Given the description of an element on the screen output the (x, y) to click on. 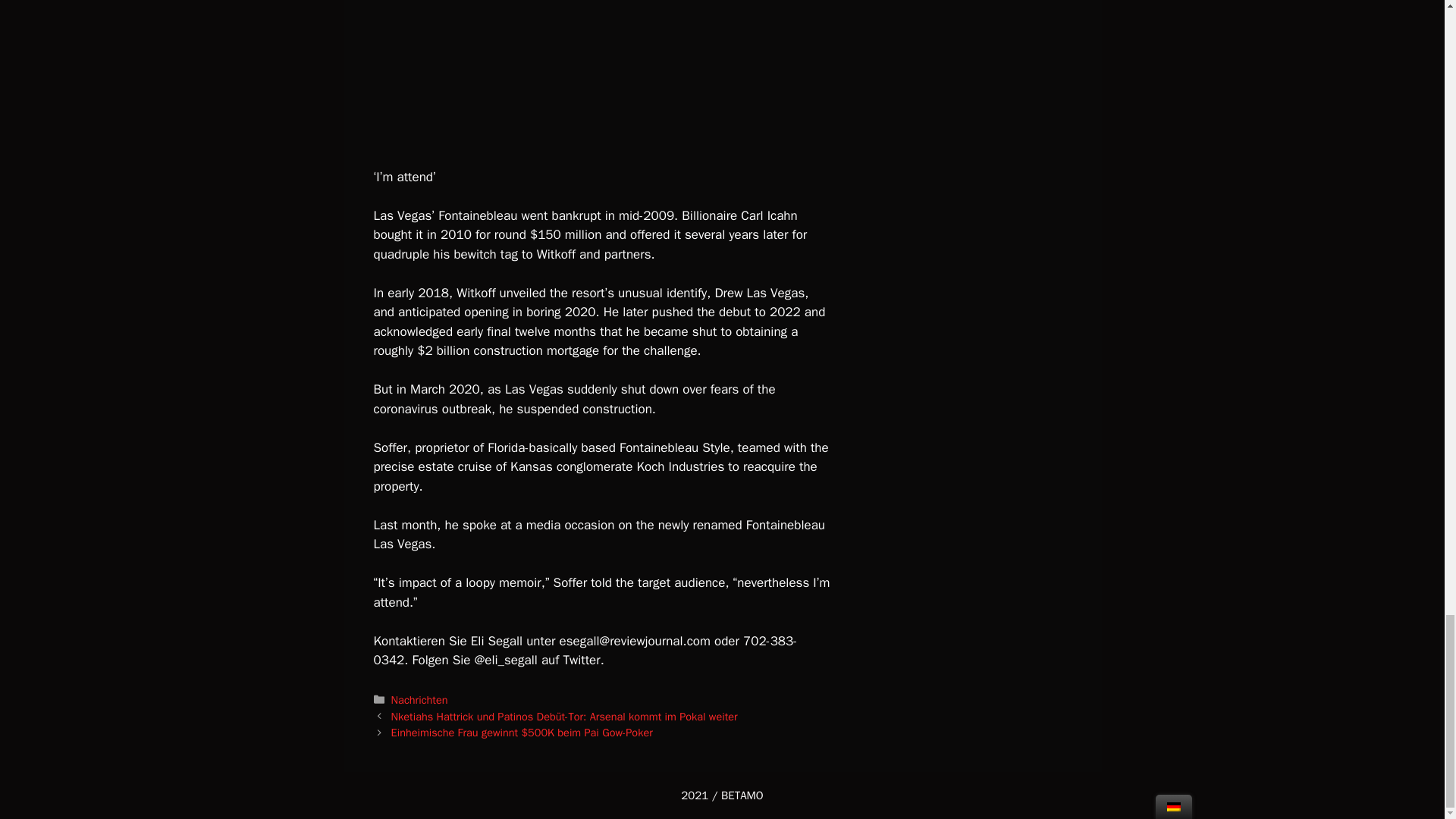
Vorheriger (564, 716)
Nachrichten (419, 699)
